Given the description of an element on the screen output the (x, y) to click on. 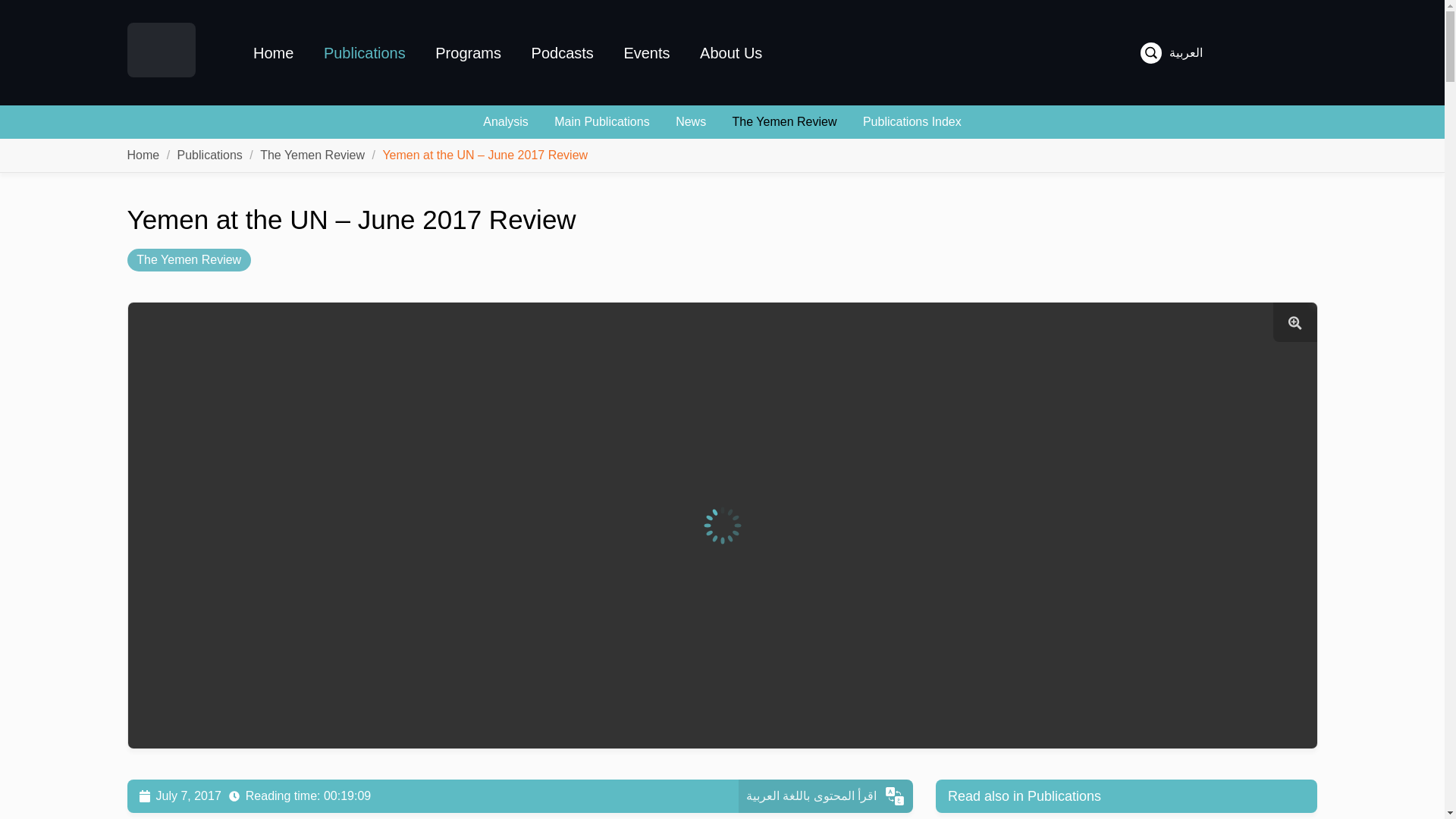
Home (144, 154)
Main Publications (601, 122)
Toggle search bar (1150, 52)
Analysis (505, 122)
The Yemen Review (312, 154)
The Yemen Review (784, 122)
Publications (364, 52)
About Us (730, 52)
Programs (468, 52)
Home (273, 52)
Events (646, 52)
Publications (210, 154)
News (690, 122)
The Yemen Review (312, 154)
The Yemen Review (189, 259)
